Given the description of an element on the screen output the (x, y) to click on. 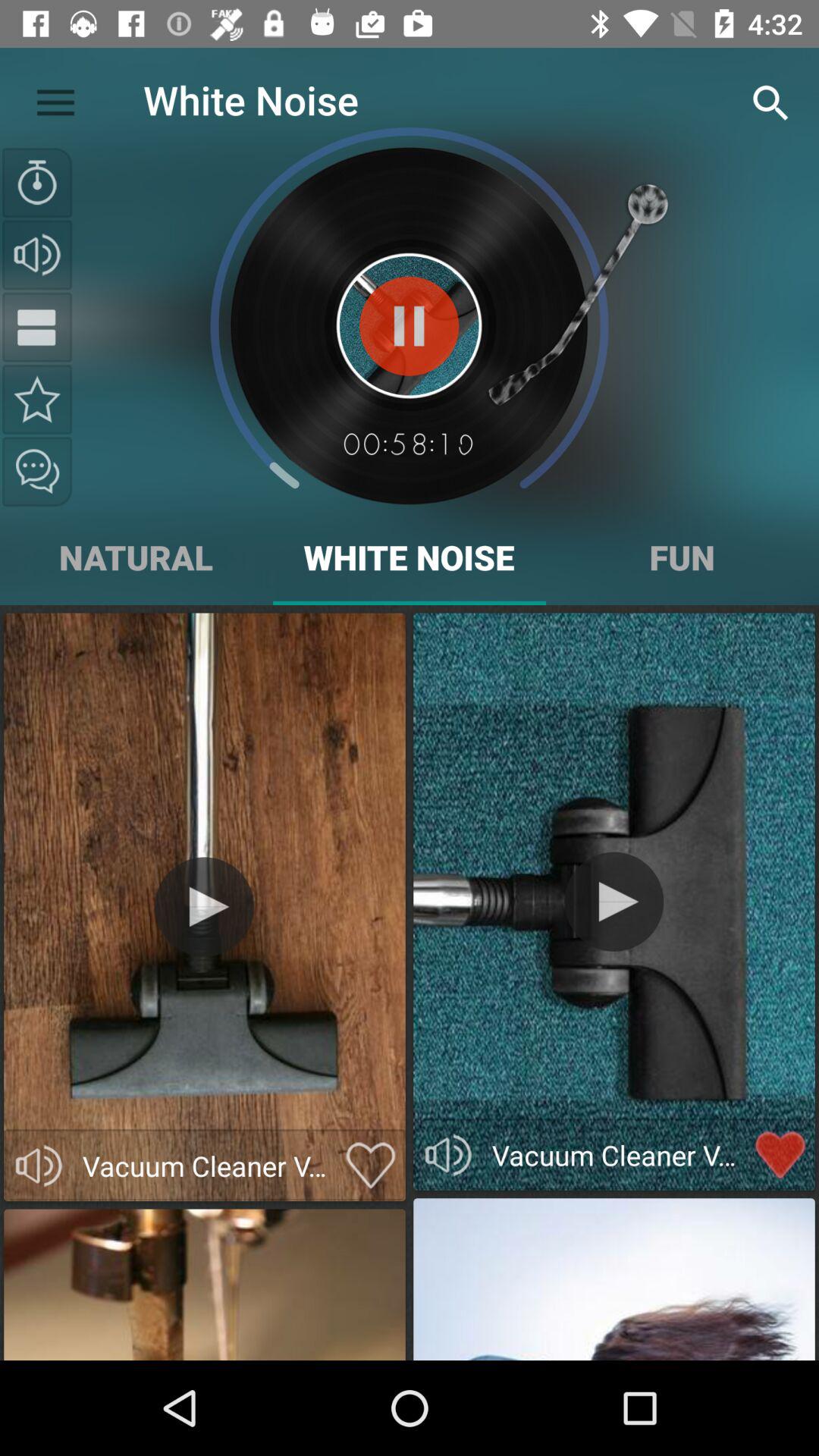
sound and volume adjustment (37, 255)
